Given the description of an element on the screen output the (x, y) to click on. 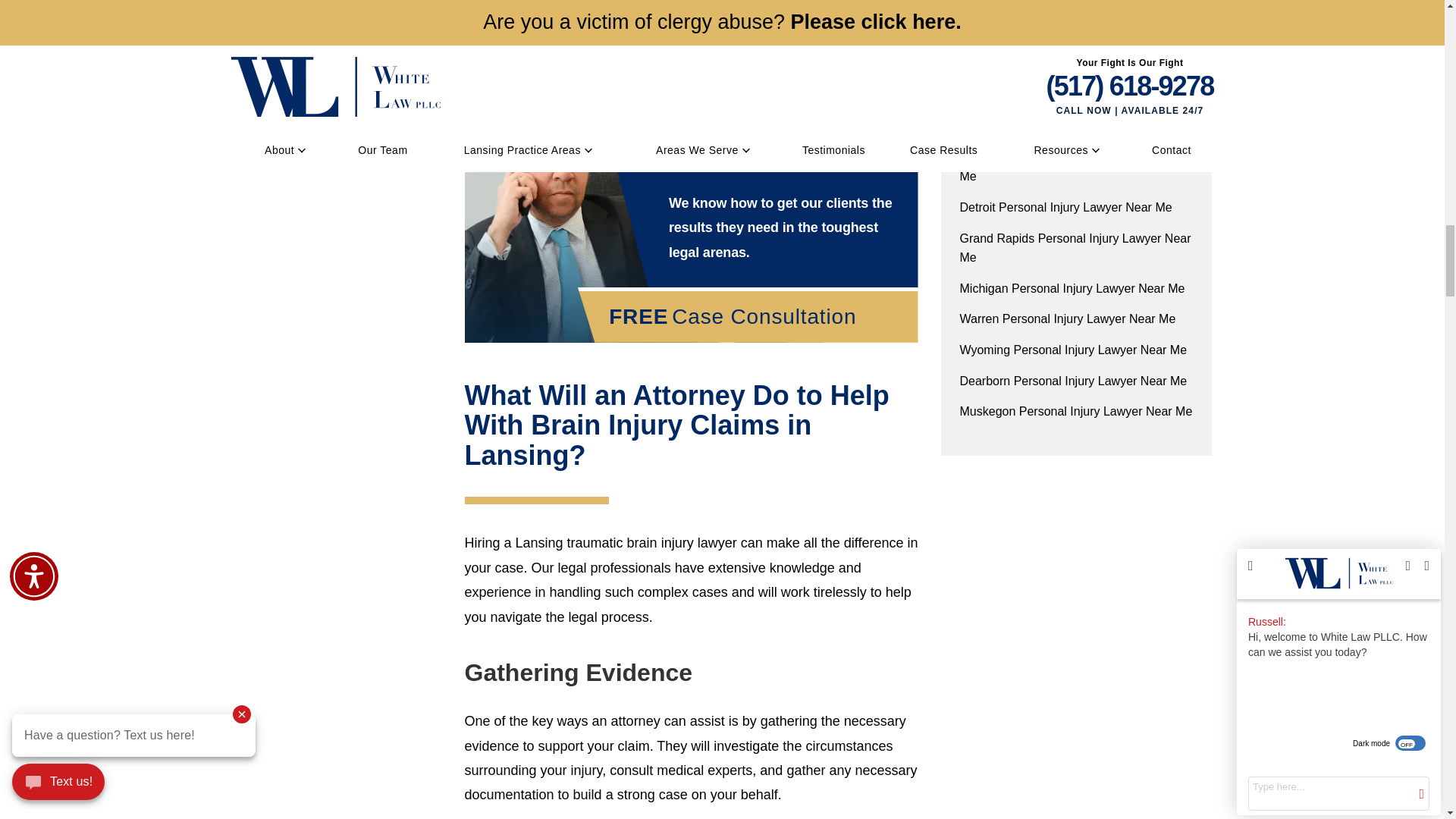
FREE Case Consultation (747, 316)
White Law - PLLC (733, 149)
